Given the description of an element on the screen output the (x, y) to click on. 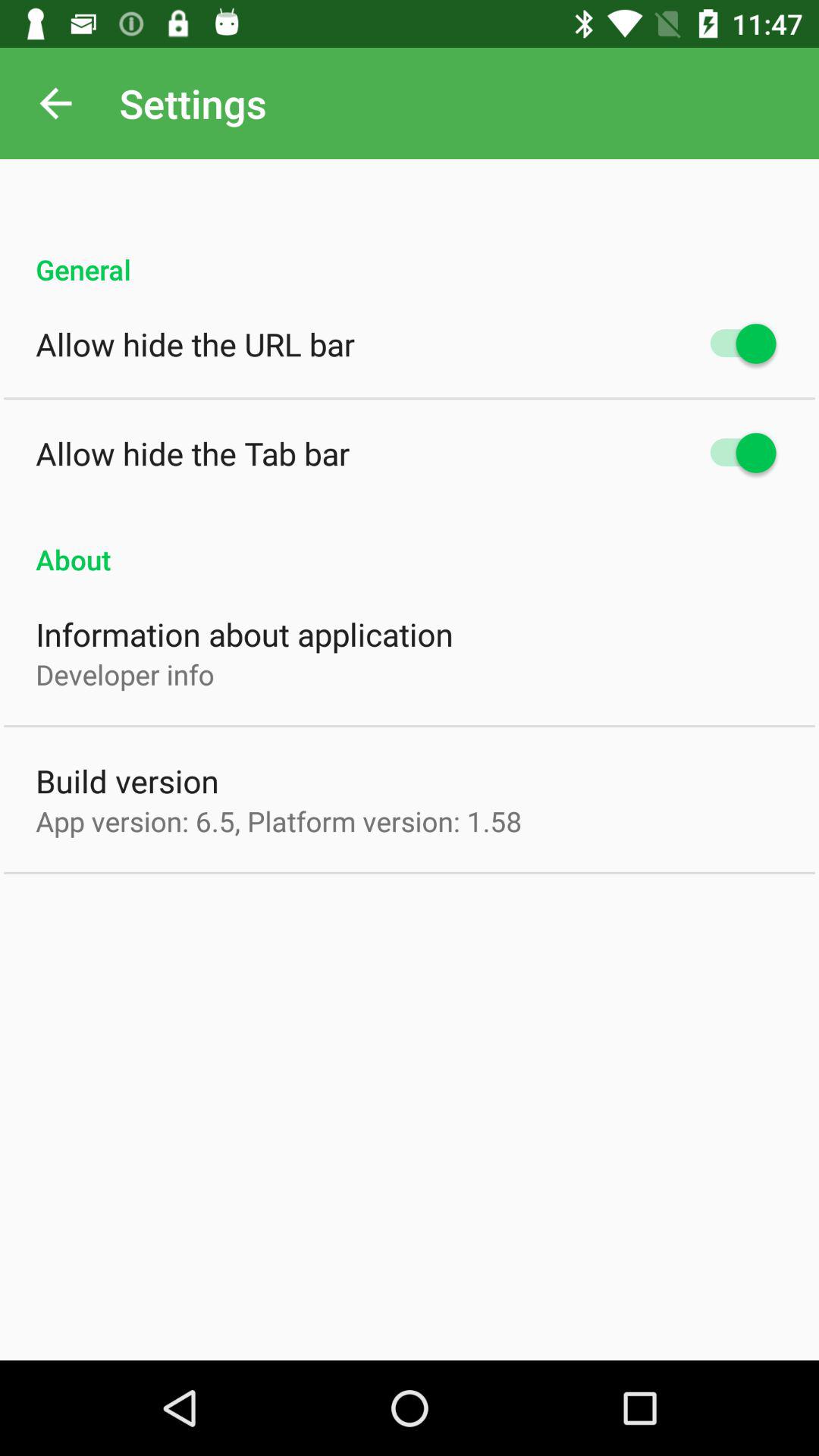
scroll until the information about application (244, 633)
